Given the description of an element on the screen output the (x, y) to click on. 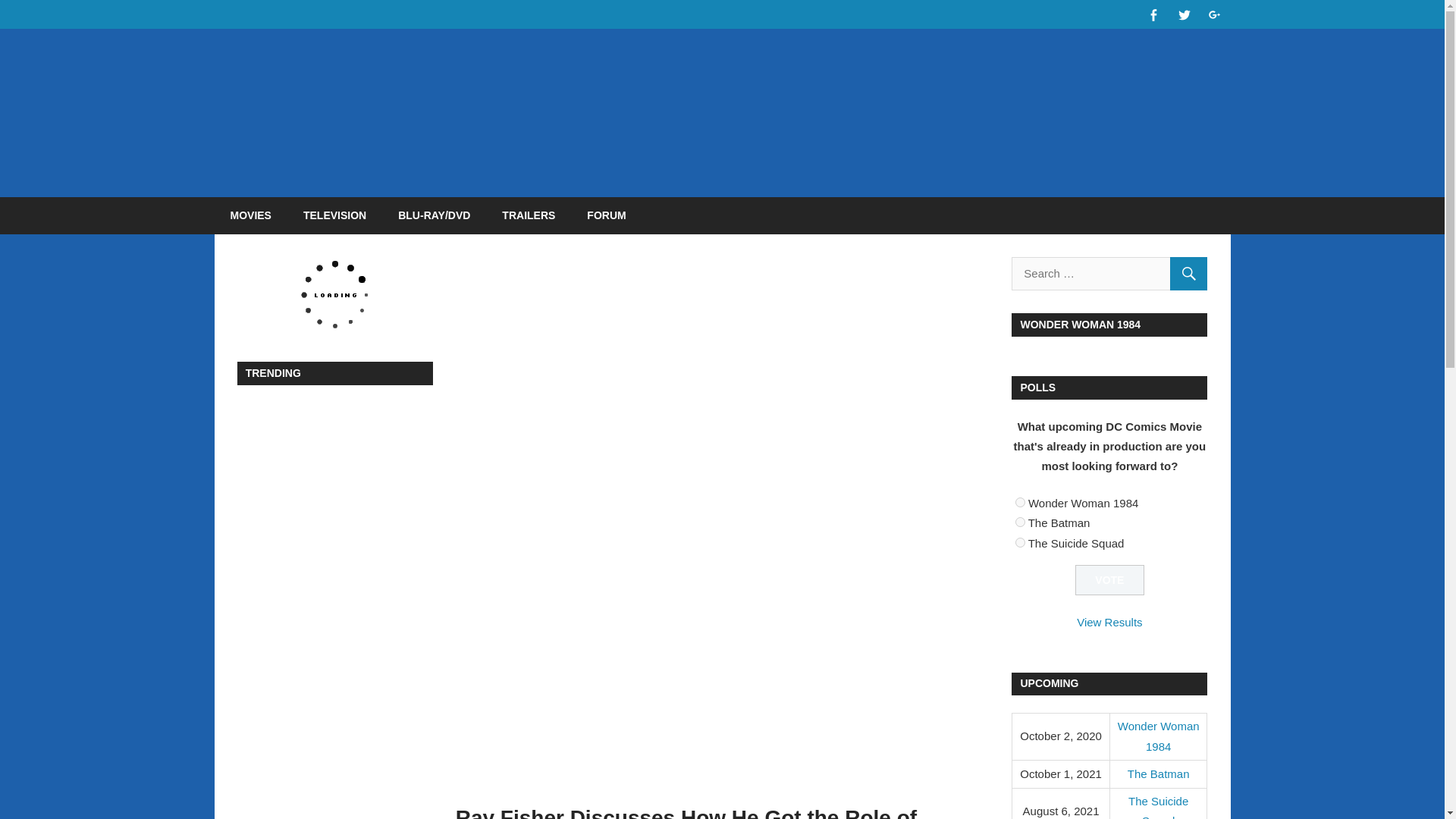
MOVIES (250, 216)
FORUM (606, 216)
82 (1019, 501)
TRAILERS (528, 216)
View Results (1109, 621)
View Results Of This Poll (1109, 621)
84 (1019, 542)
   Vote    (1109, 580)
Search for: (1109, 273)
TELEVISION (333, 216)
